Given the description of an element on the screen output the (x, y) to click on. 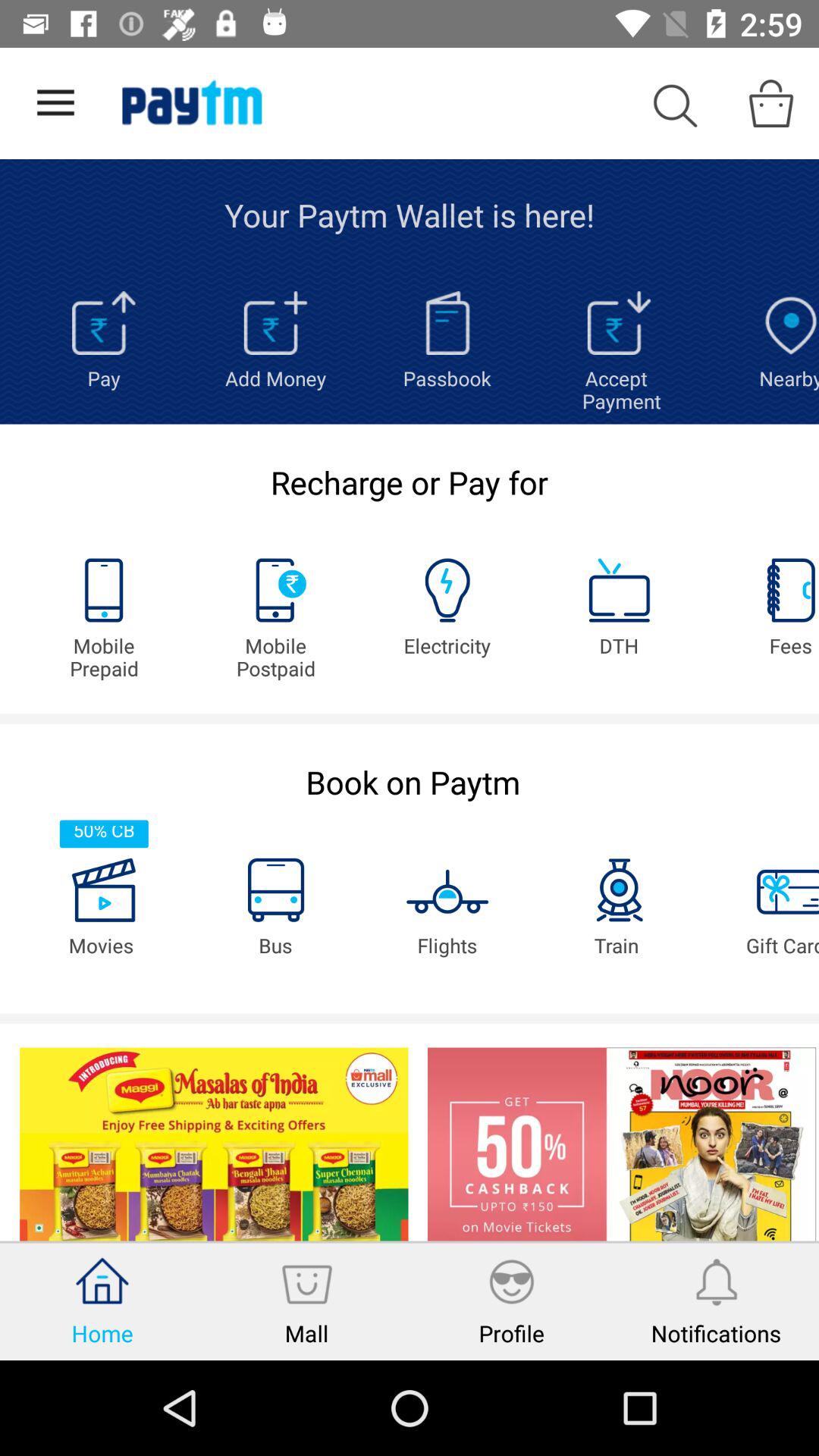
tap the recharge or pay (409, 482)
